Given the description of an element on the screen output the (x, y) to click on. 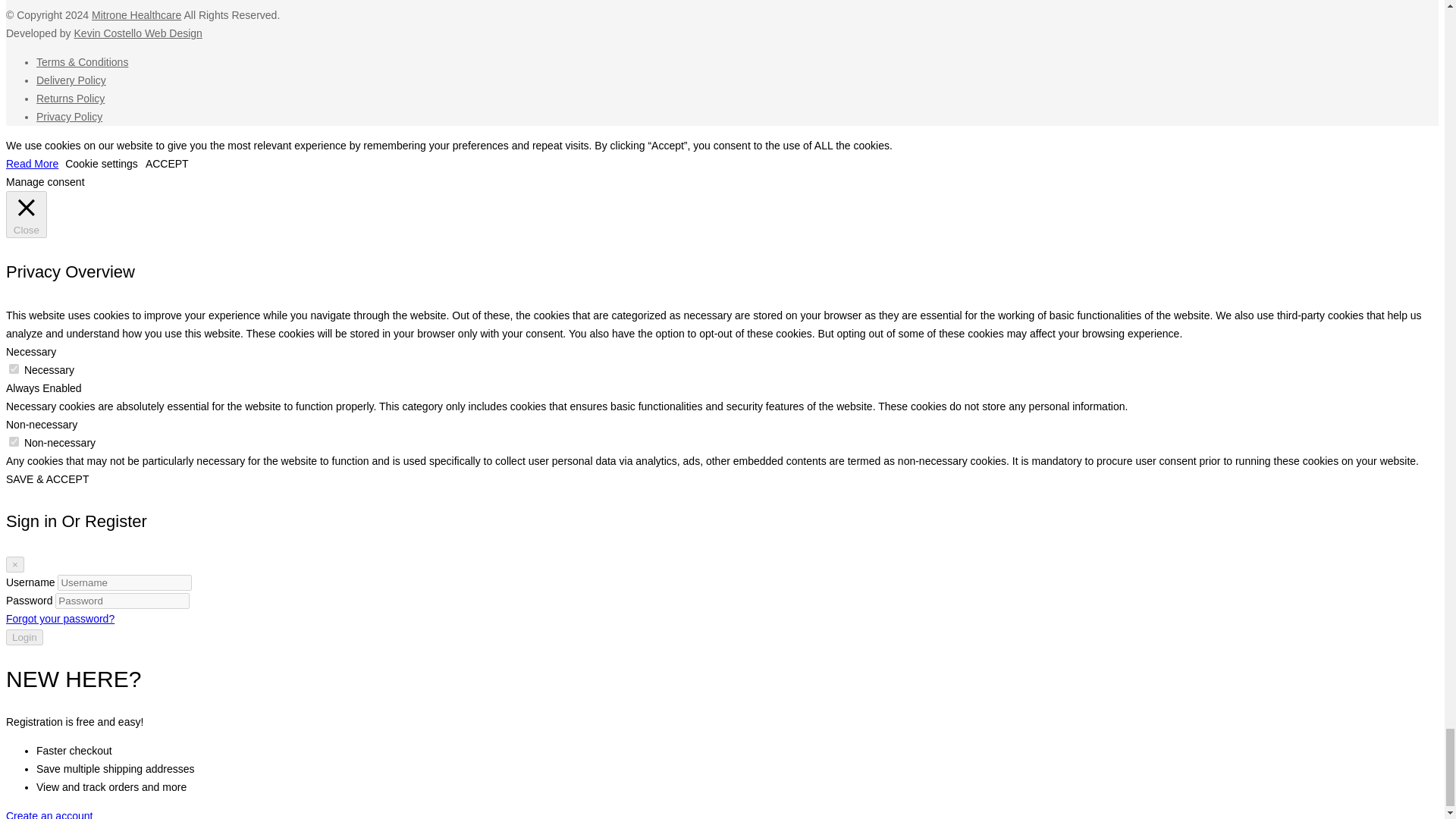
on (13, 441)
Login (24, 637)
on (13, 368)
Forgot your password? (60, 618)
